Given the description of an element on the screen output the (x, y) to click on. 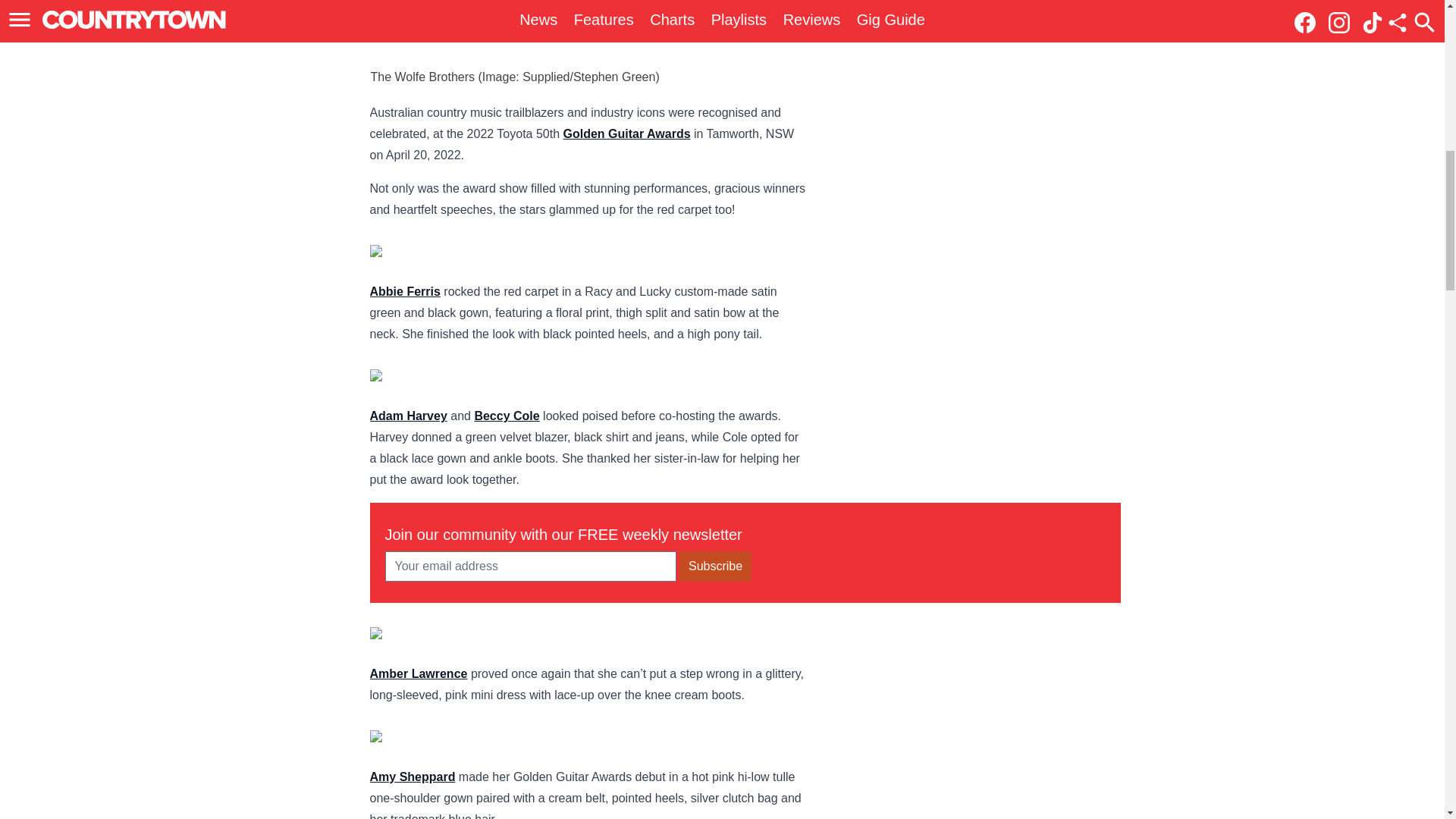
Golden Guitar Awards (626, 133)
Amber Lawrence (418, 673)
Subscribe (715, 566)
Amy Sheppard (412, 776)
Beccy Cole (506, 415)
Adam Harvey (407, 415)
Abbie Ferris (405, 291)
